Given the description of an element on the screen output the (x, y) to click on. 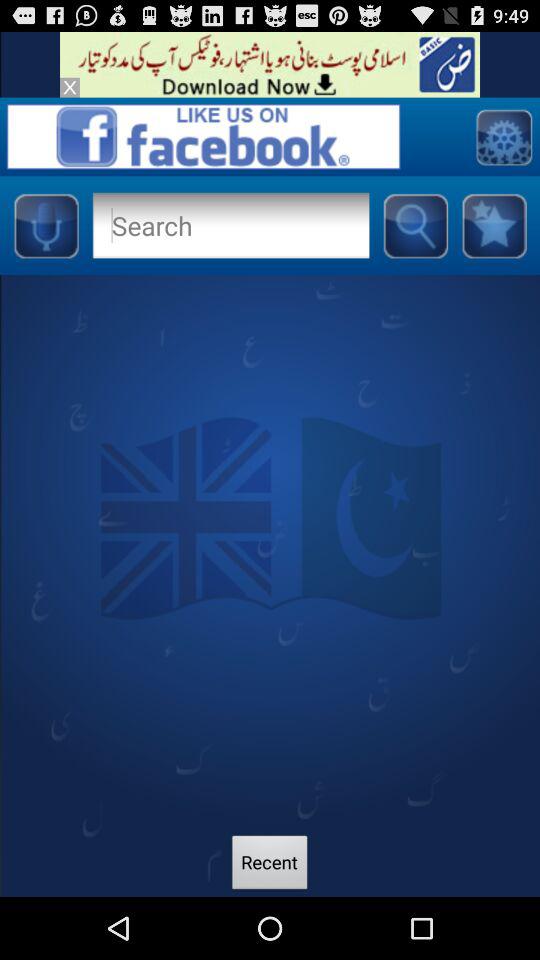
search for item/subject (415, 225)
